Given the description of an element on the screen output the (x, y) to click on. 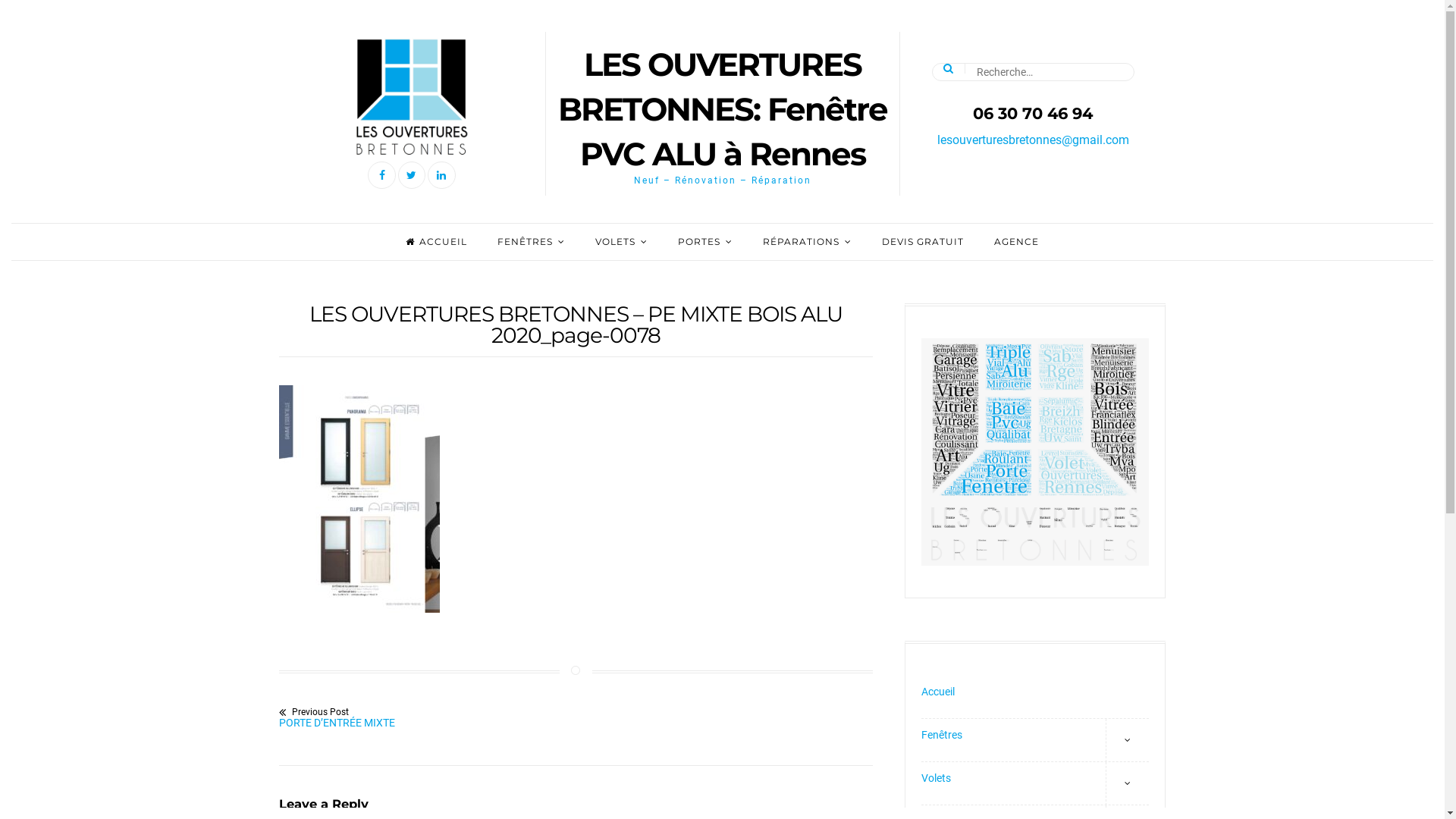
PORTES Element type: text (705, 241)
Skip to content Element type: text (0, 0)
Twitter Element type: text (411, 174)
lesouverturesbretonnes@gmail.com Element type: text (1033, 139)
AGENCE Element type: text (1016, 241)
VOLETS Element type: text (621, 241)
Rechercher Element type: text (32, 9)
Accueil Element type: text (1034, 696)
DEVIS GRATUIT Element type: text (922, 241)
Linkedin Element type: text (441, 174)
Facebook Element type: text (381, 174)
ACCUEIL Element type: text (436, 241)
Volets Element type: text (1034, 783)
